Given the description of an element on the screen output the (x, y) to click on. 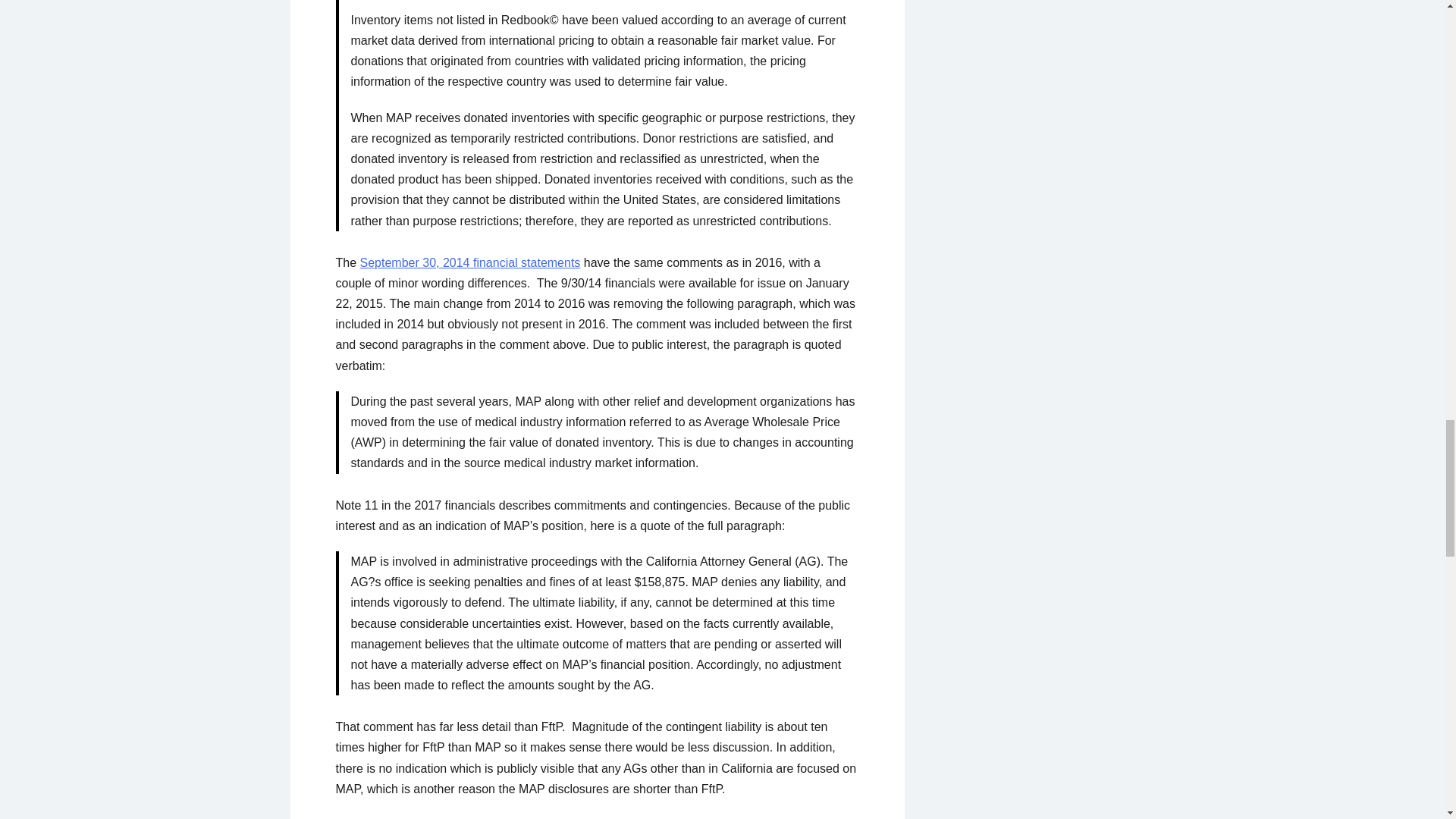
September 30, 2014 financial statements (469, 262)
